Given the description of an element on the screen output the (x, y) to click on. 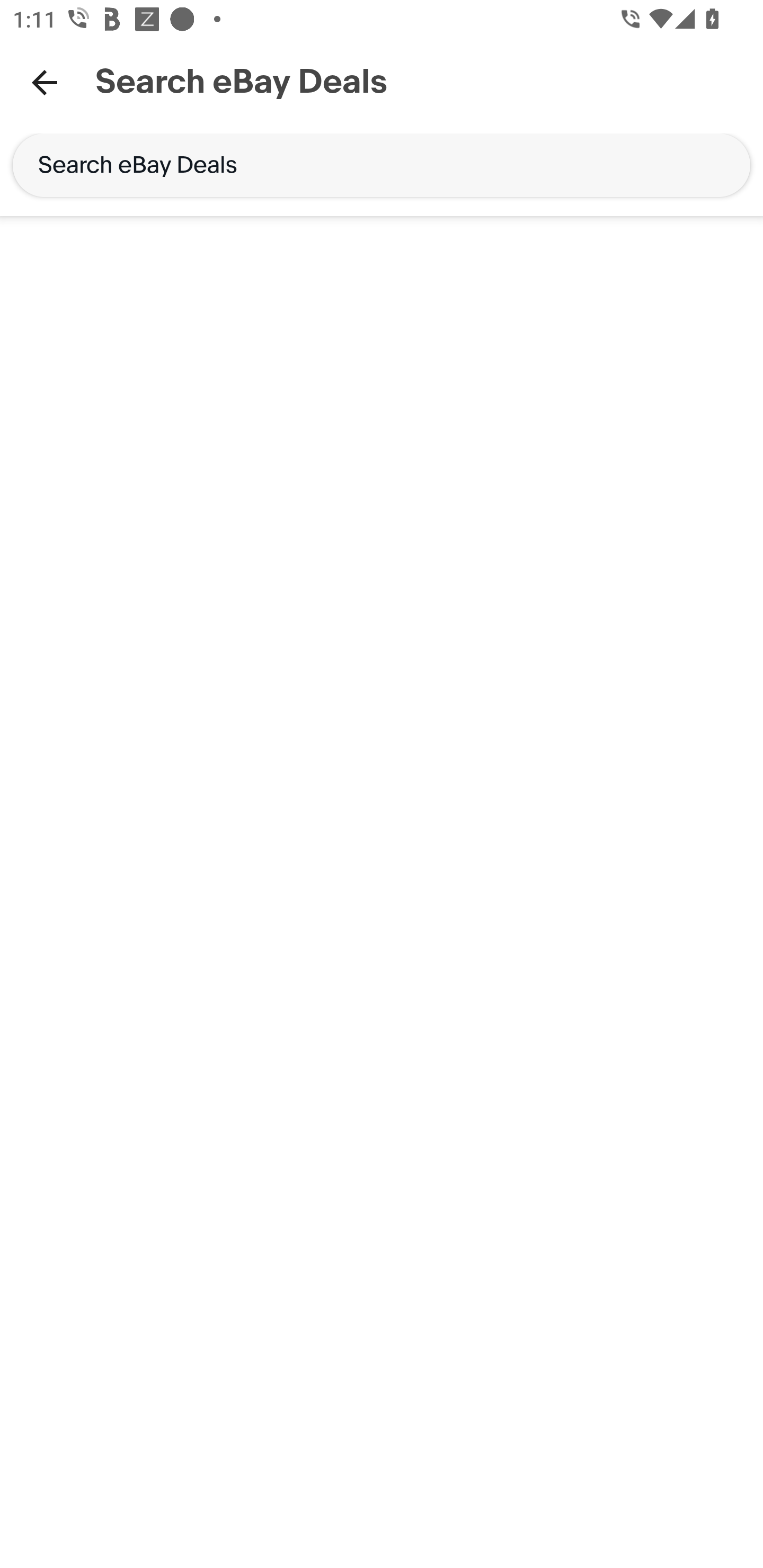
Navigate up (44, 82)
Search eBay Deals (381, 165)
